Given the description of an element on the screen output the (x, y) to click on. 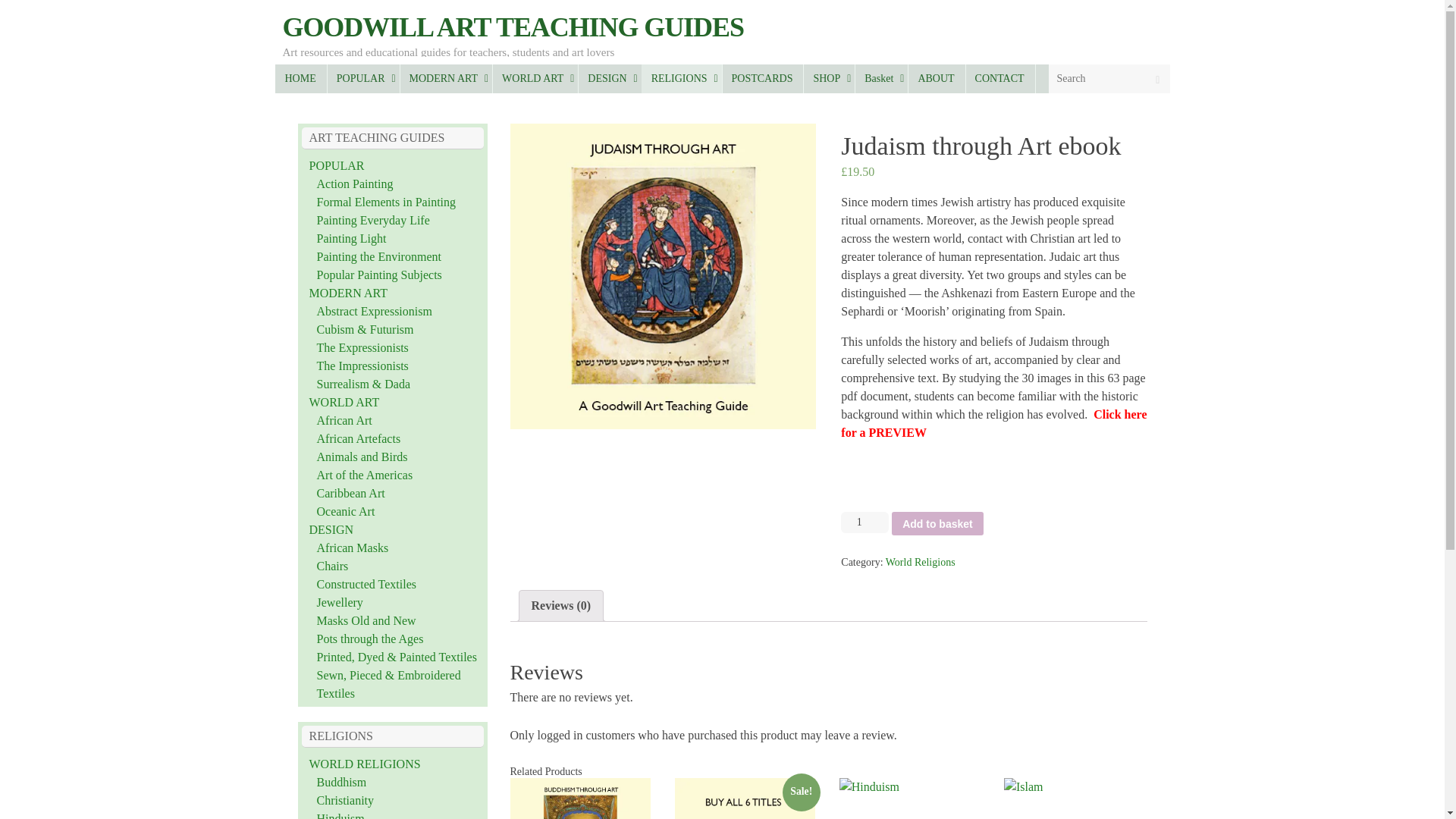
WORLD ART (535, 78)
Qty (864, 522)
RELIGIONS (682, 78)
Buddhism through Art ebook (579, 798)
HOME (300, 78)
Judaism through Art ebook (662, 276)
MODERN ART (445, 78)
GOODWILL ART TEACHING GUIDES (512, 27)
GOODWILL ART TEACHING GUIDES (512, 27)
Hinduism through Art ebook (909, 798)
